Given the description of an element on the screen output the (x, y) to click on. 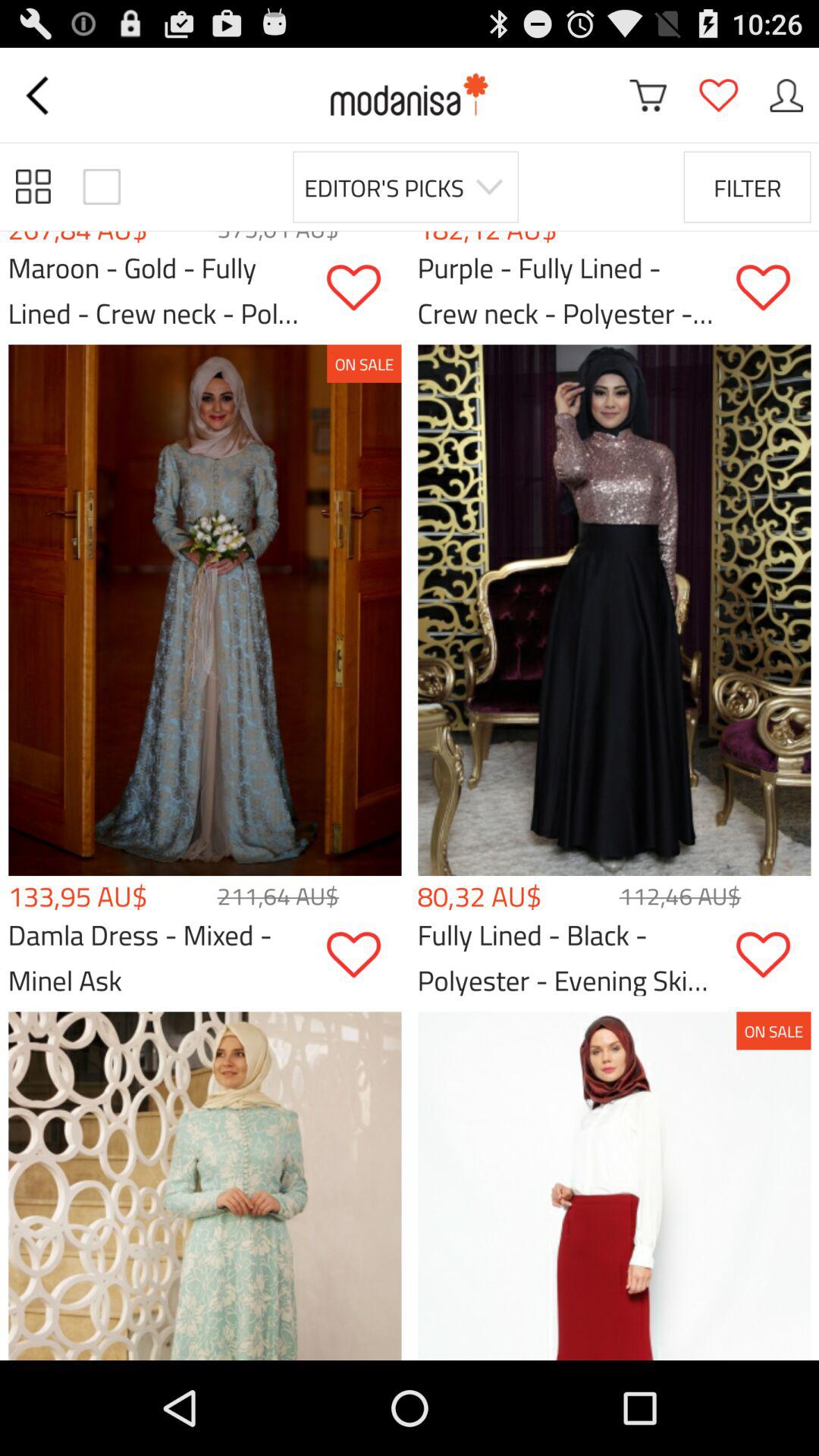
jump until the filter item (747, 186)
